Given the description of an element on the screen output the (x, y) to click on. 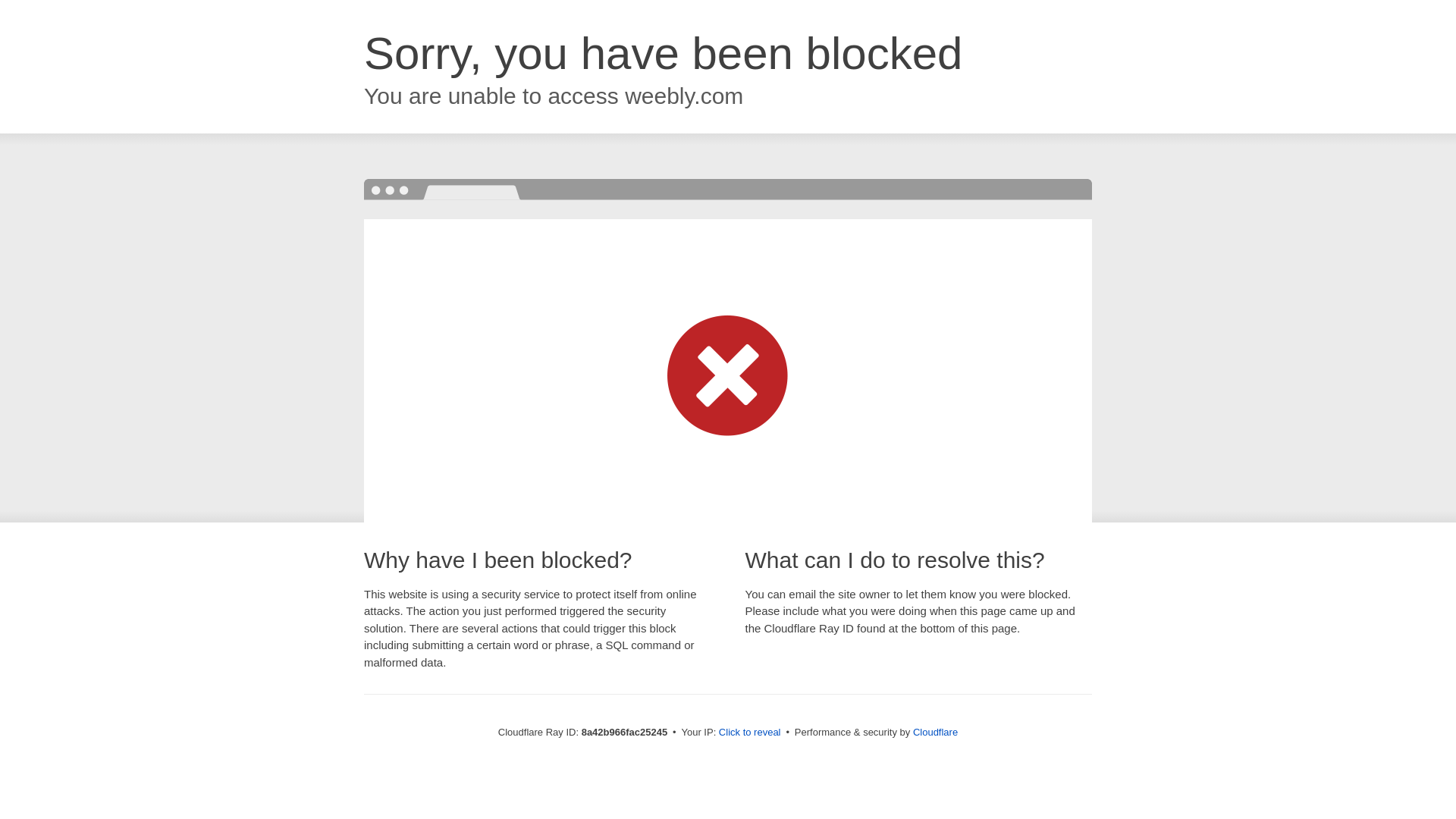
Click to reveal (749, 732)
Cloudflare (935, 731)
